Given the description of an element on the screen output the (x, y) to click on. 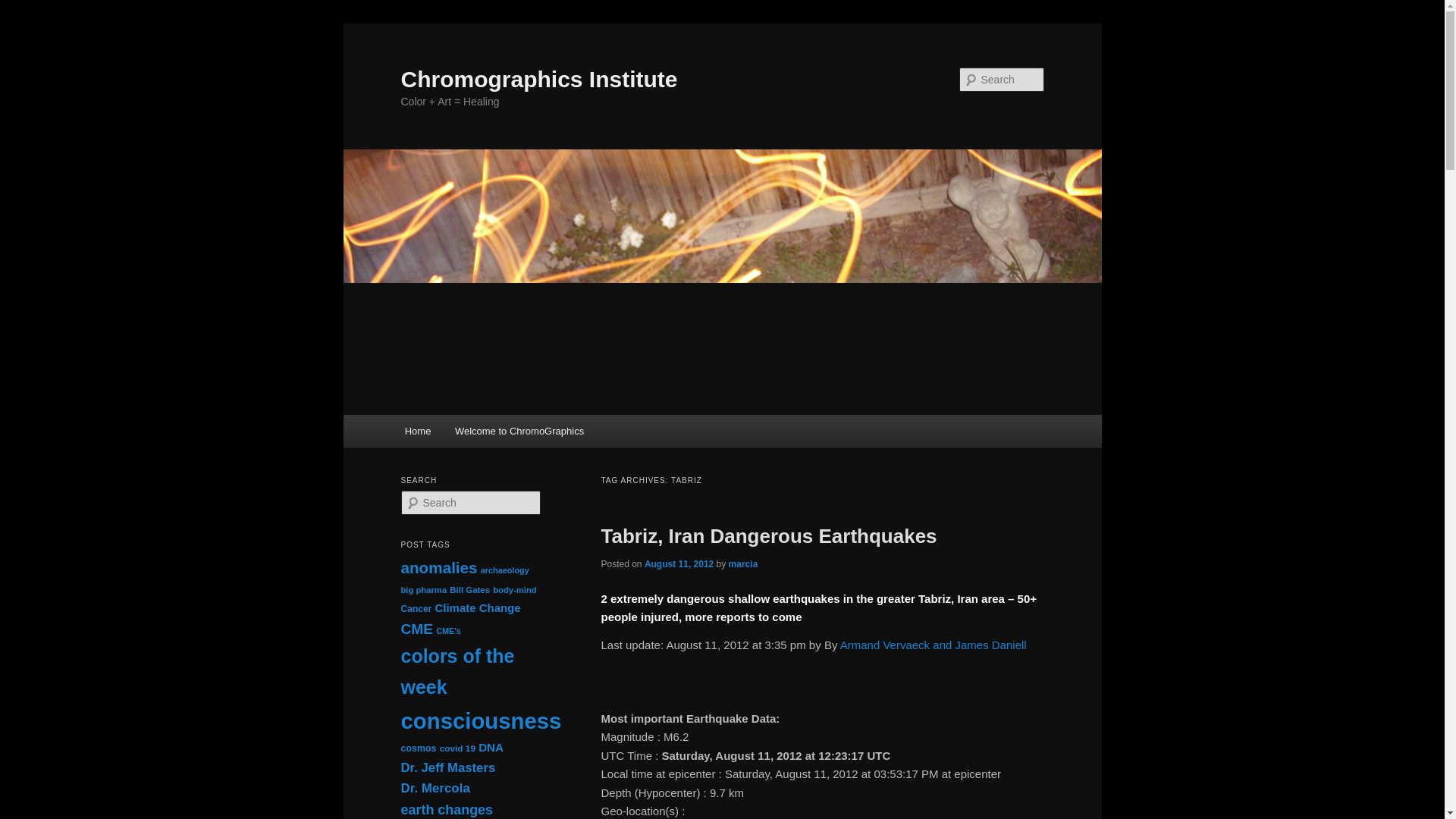
marcia (743, 563)
big pharma (423, 589)
body-mind (515, 589)
earth changes (446, 809)
cosmos (417, 747)
CME (416, 628)
consciousness (480, 720)
Dr. Jeff Masters (447, 767)
Armand Vervaeck and James Daniell (933, 644)
View all posts by marcia (743, 563)
